Given the description of an element on the screen output the (x, y) to click on. 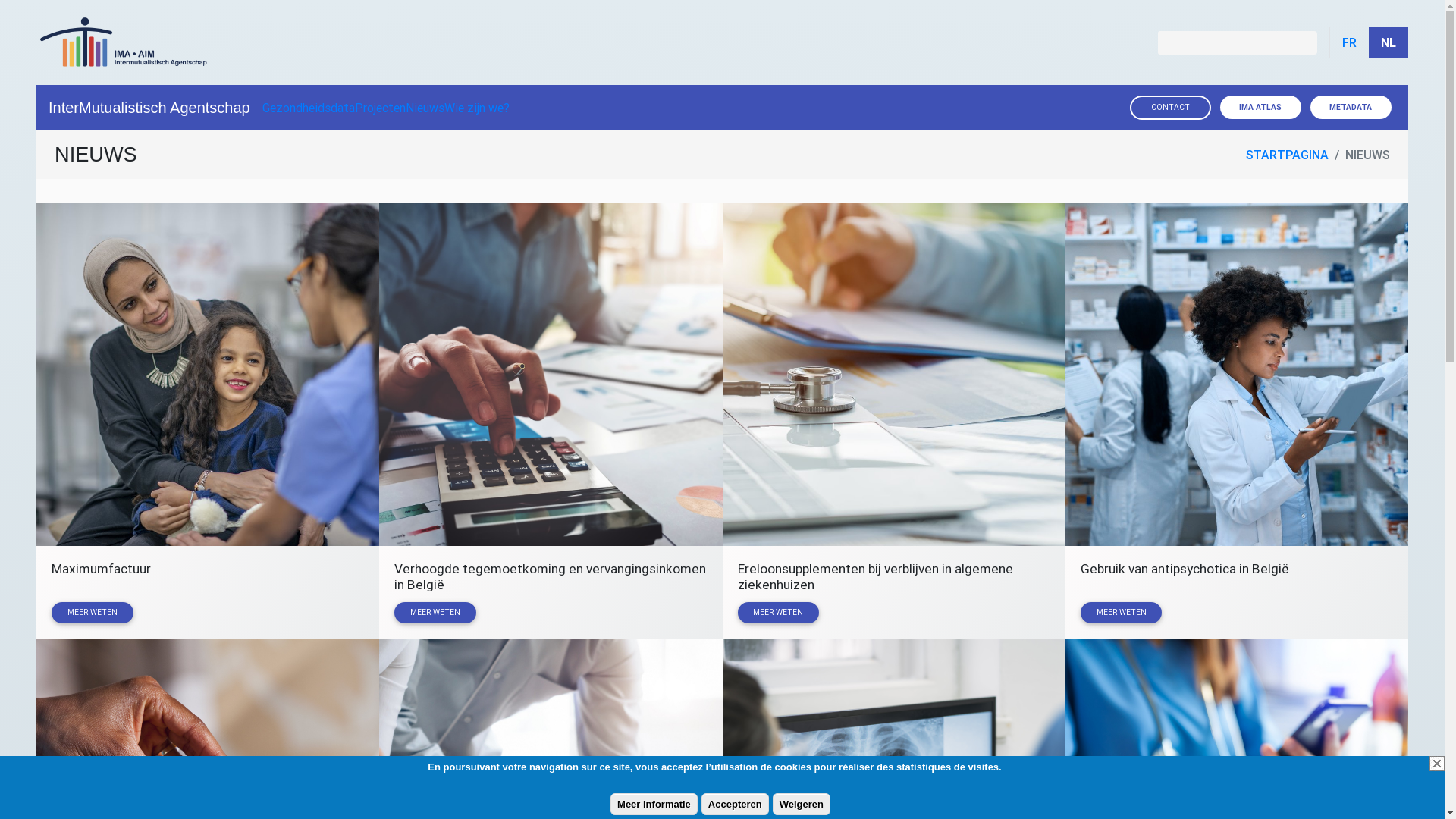
Meer informatie Element type: text (653, 804)
MEER WETEN Element type: text (92, 612)
Wie zijn we? Element type: text (476, 107)
STARTPAGINA Element type: text (1286, 154)
MEER WETEN Element type: text (1121, 612)
MEER WETEN Element type: text (778, 612)
MEER WETEN Element type: text (435, 612)
IMA ATLAS Element type: text (1260, 107)
Accepteren Element type: text (734, 804)
InterMutualistisch Agentschap Element type: text (149, 107)
Weigeren Element type: text (801, 804)
CONTACT Element type: text (1169, 107)
Nieuws Element type: text (424, 107)
FR Element type: text (1348, 42)
Gezondheidsdata Element type: text (308, 107)
Projecten Element type: text (379, 107)
METADATA Element type: text (1350, 107)
